Given the description of an element on the screen output the (x, y) to click on. 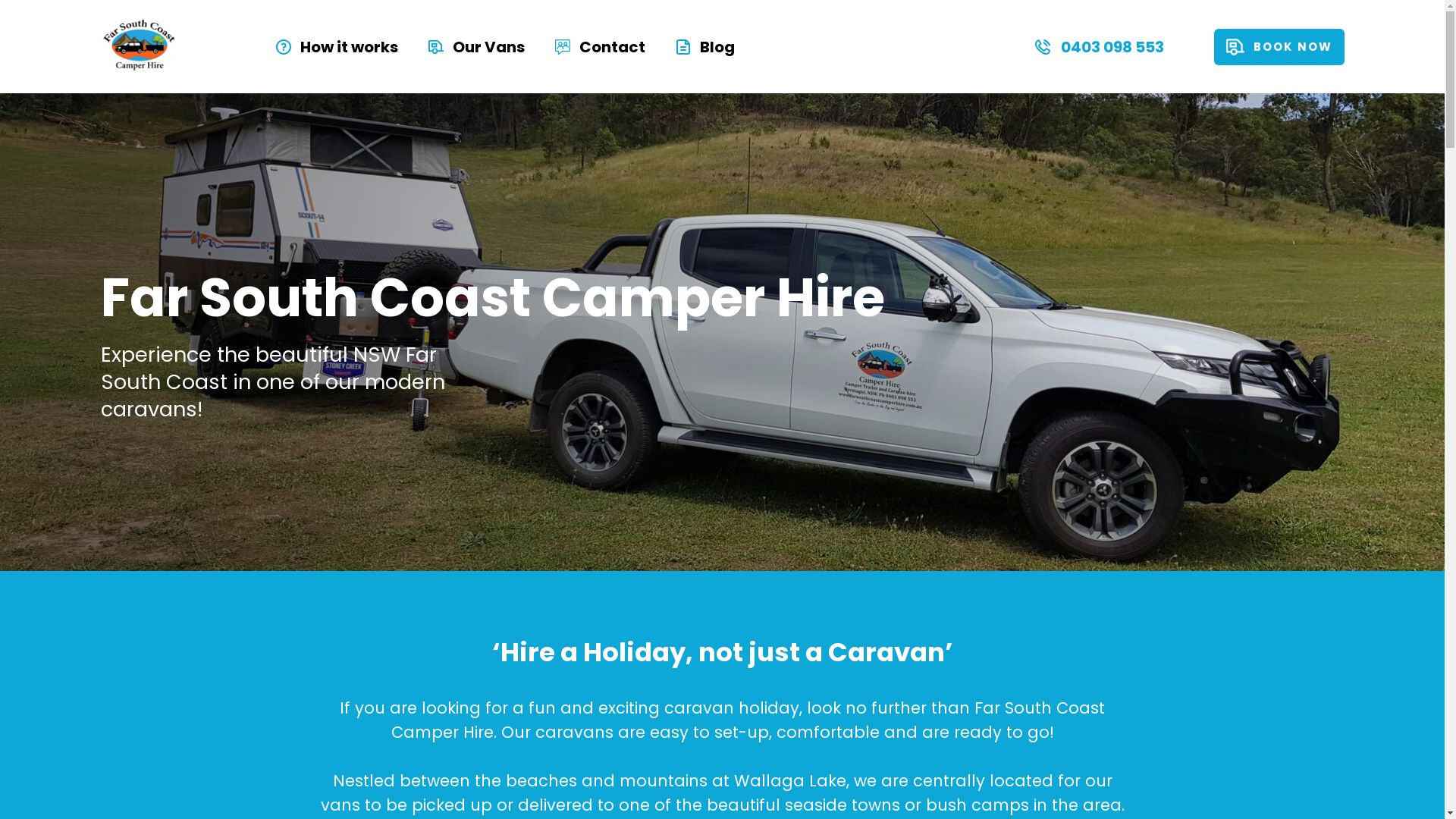
Blog Element type: text (704, 46)
Contact Element type: text (600, 46)
0403 098 553 Element type: text (1097, 46)
BOOK NOW Element type: text (1278, 46)
How it works Element type: text (337, 46)
Our Vans Element type: text (476, 46)
